Given the description of an element on the screen output the (x, y) to click on. 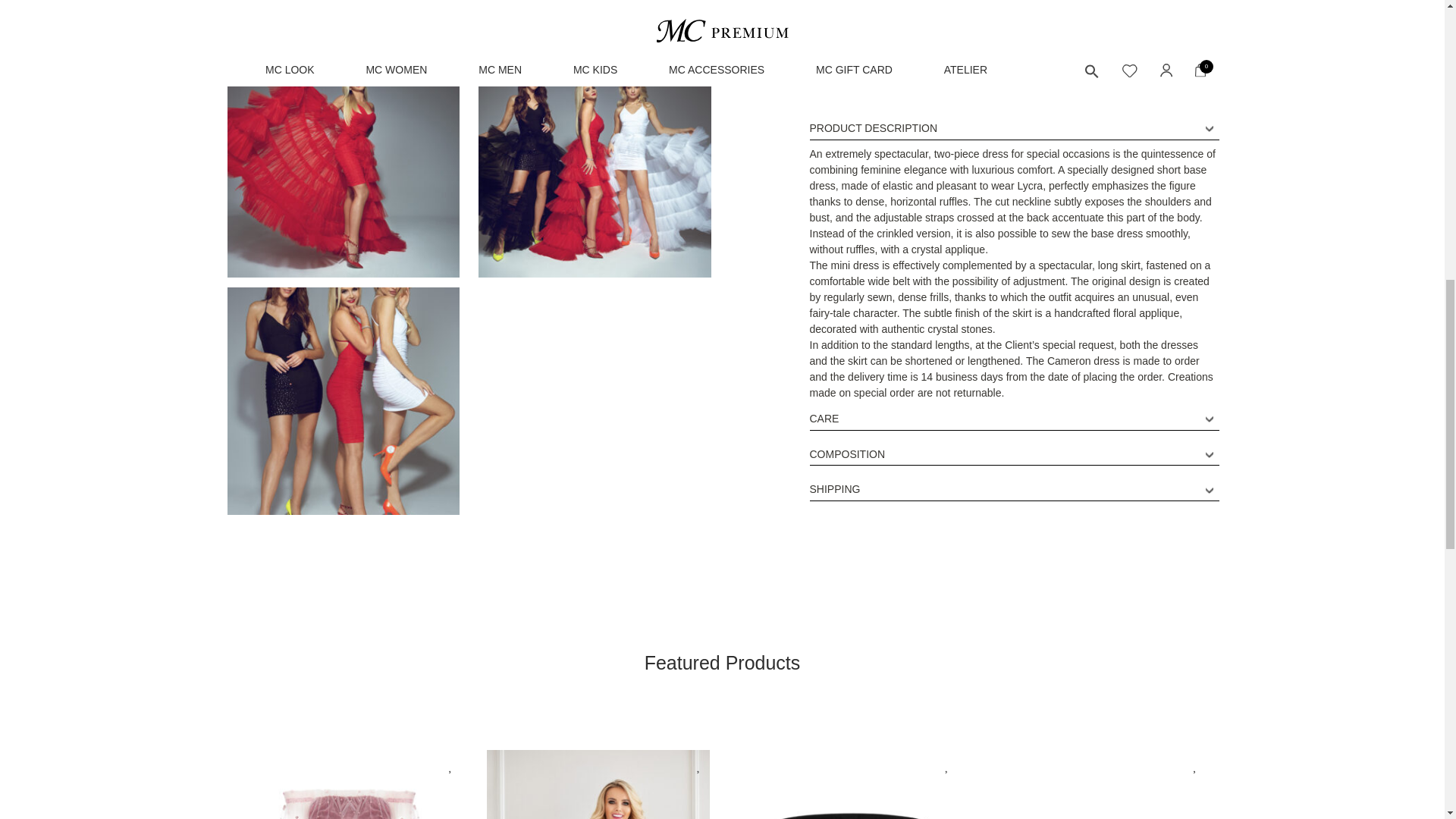
sold OUT (469, 20)
